Given the description of an element on the screen output the (x, y) to click on. 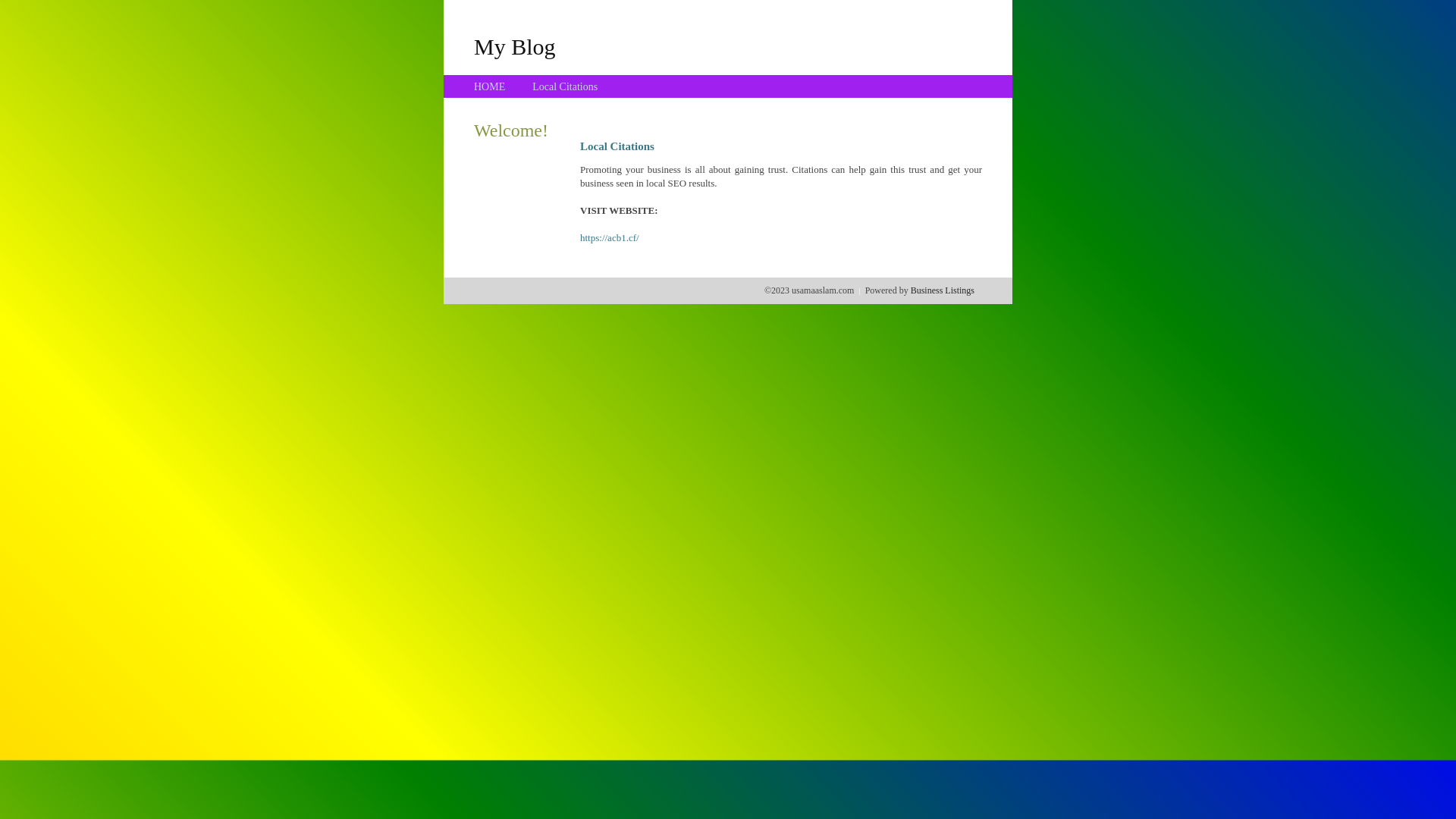
Local Citations Element type: text (564, 86)
https://acb1.cf/ Element type: text (609, 237)
My Blog Element type: text (514, 46)
HOME Element type: text (489, 86)
Business Listings Element type: text (942, 290)
